Given the description of an element on the screen output the (x, y) to click on. 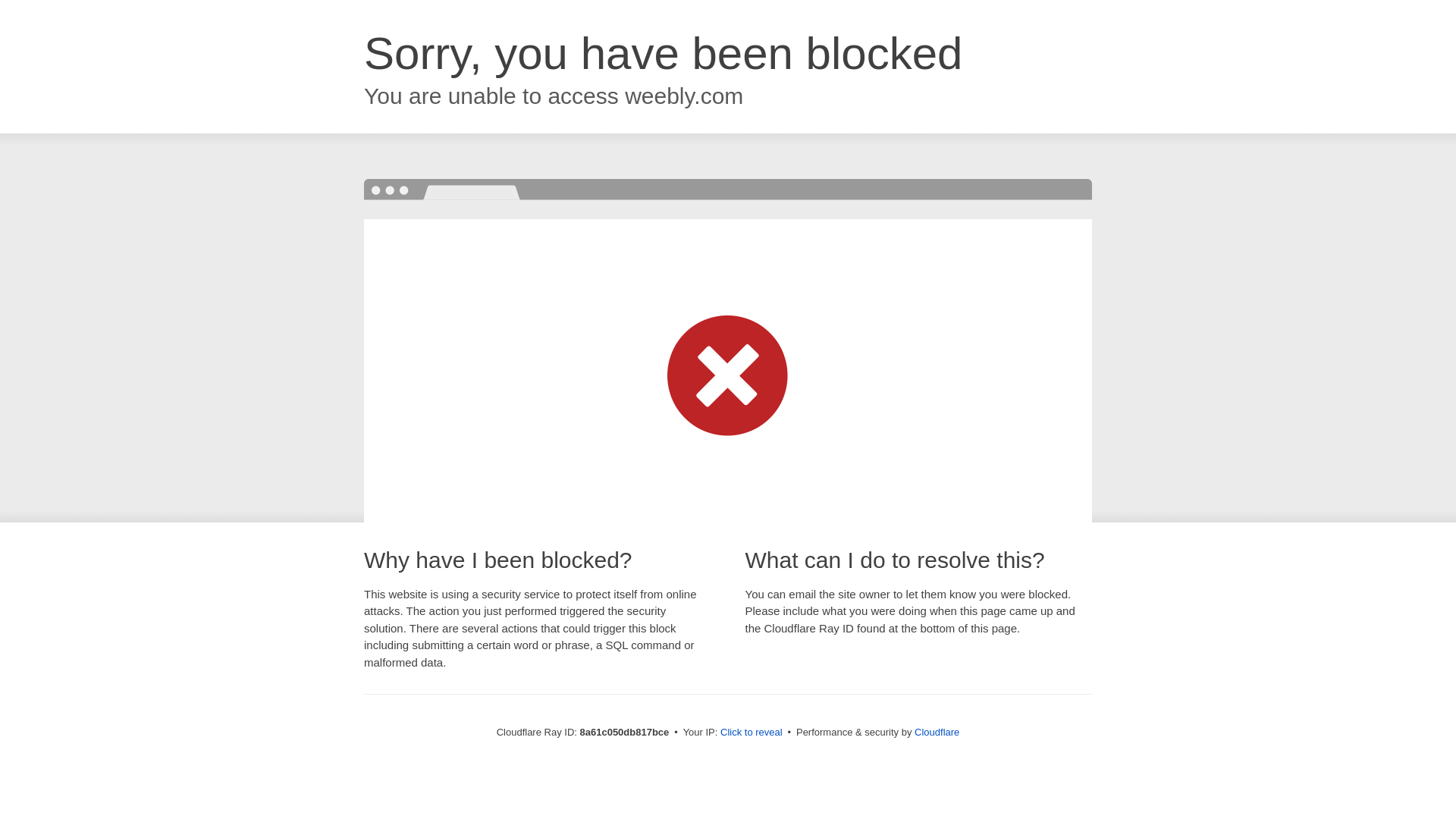
Click to reveal (751, 732)
Cloudflare (936, 731)
